Given the description of an element on the screen output the (x, y) to click on. 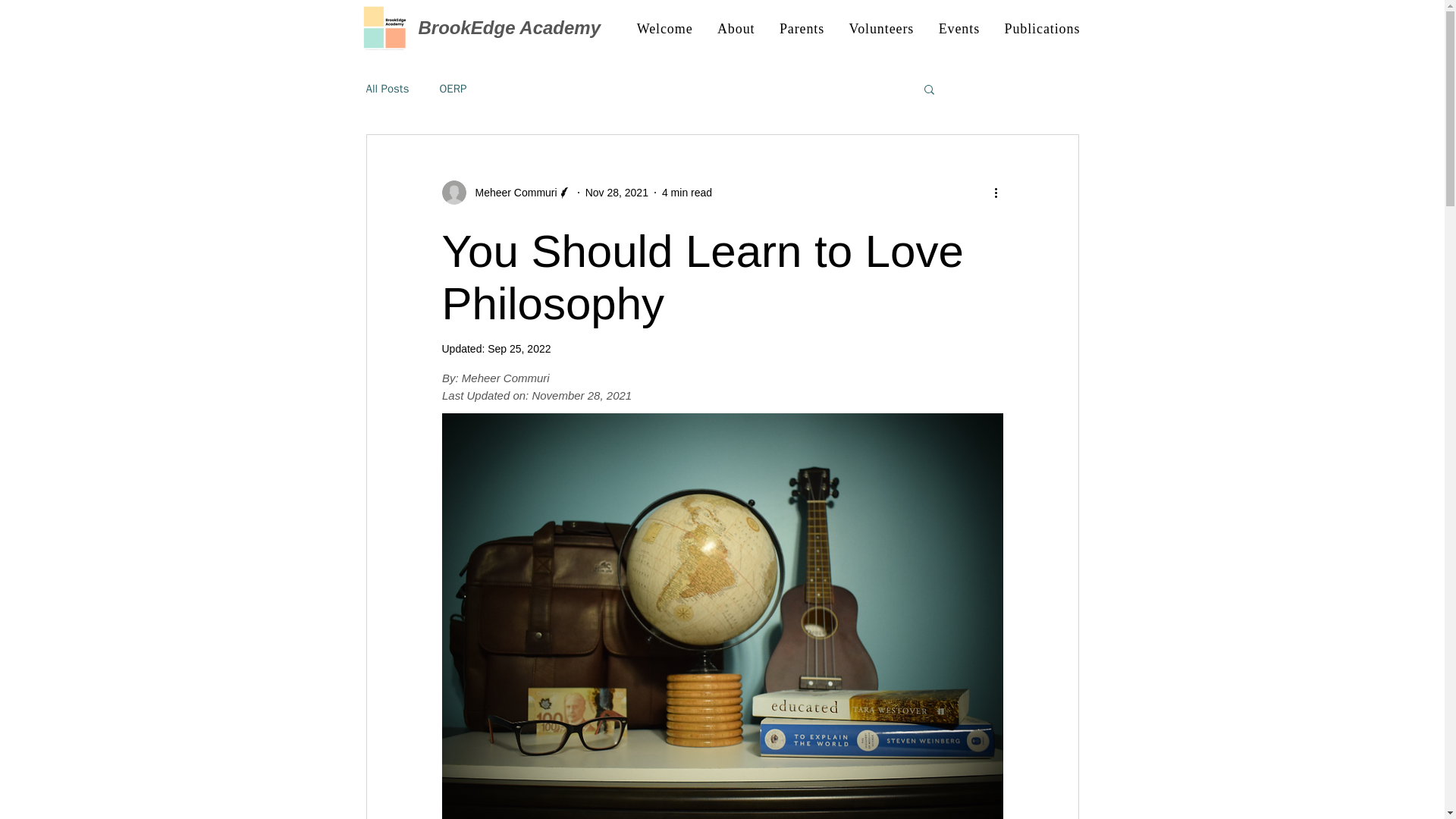
Parents (802, 29)
Volunteers (881, 29)
OERP (452, 88)
Sep 25, 2022 (518, 348)
4 min read (686, 192)
Nov 28, 2021 (616, 192)
All Posts (387, 88)
Events (958, 29)
BrookEdge Academy (510, 27)
About (735, 29)
